Given the description of an element on the screen output the (x, y) to click on. 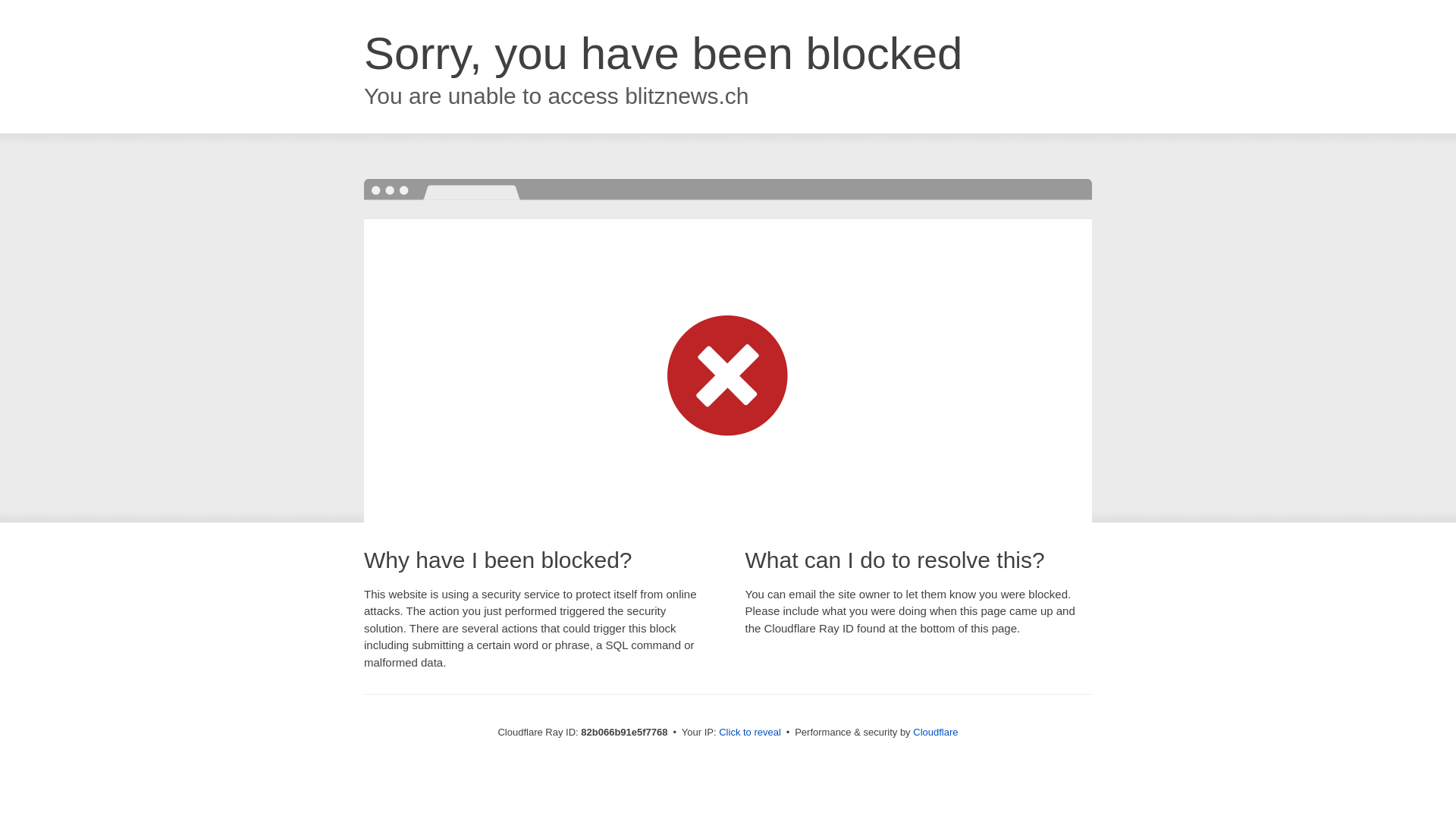
Click to reveal Element type: text (749, 732)
Cloudflare Element type: text (935, 731)
